Given the description of an element on the screen output the (x, y) to click on. 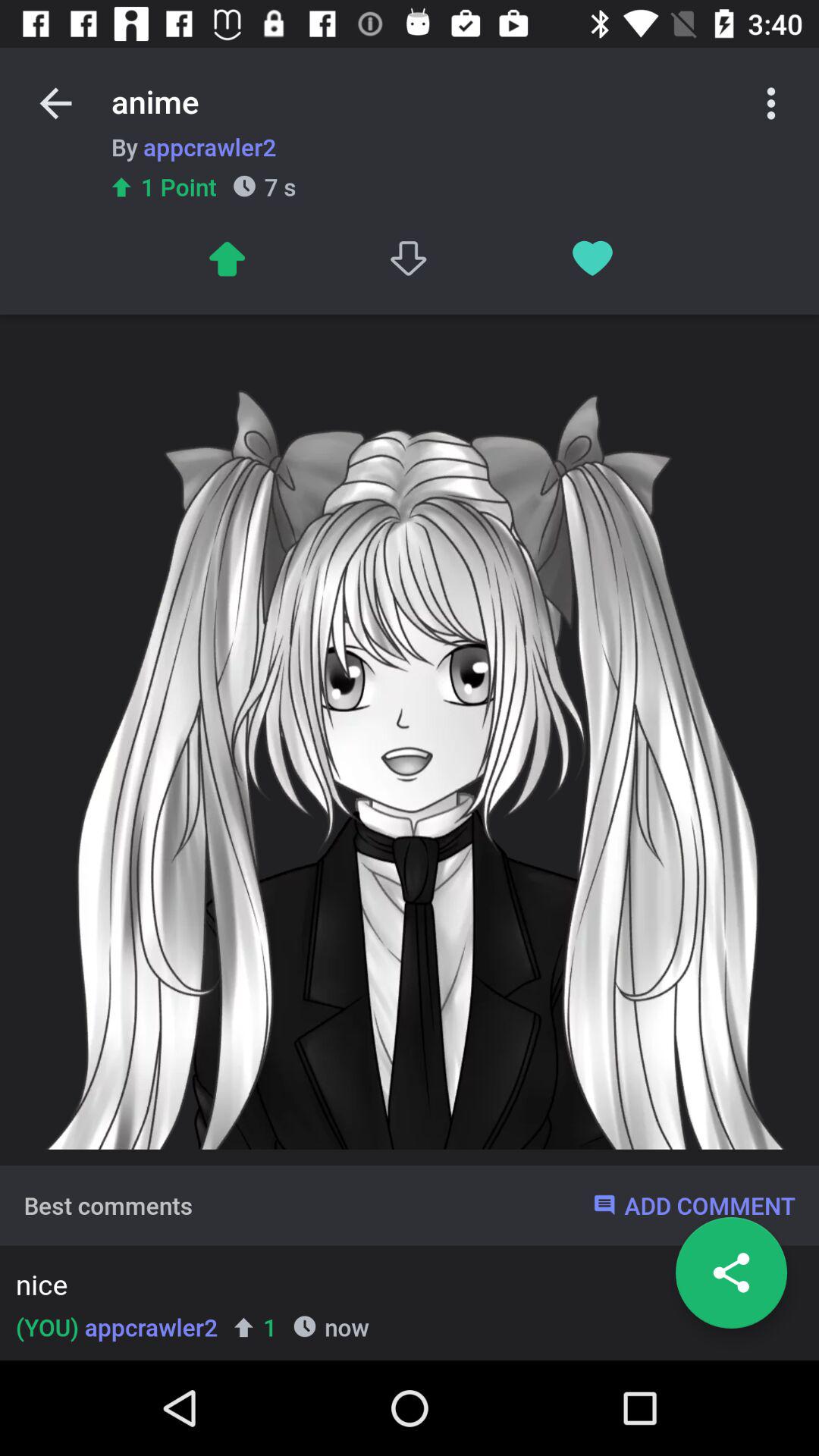
press icon next to 1 item (116, 1326)
